Given the description of an element on the screen output the (x, y) to click on. 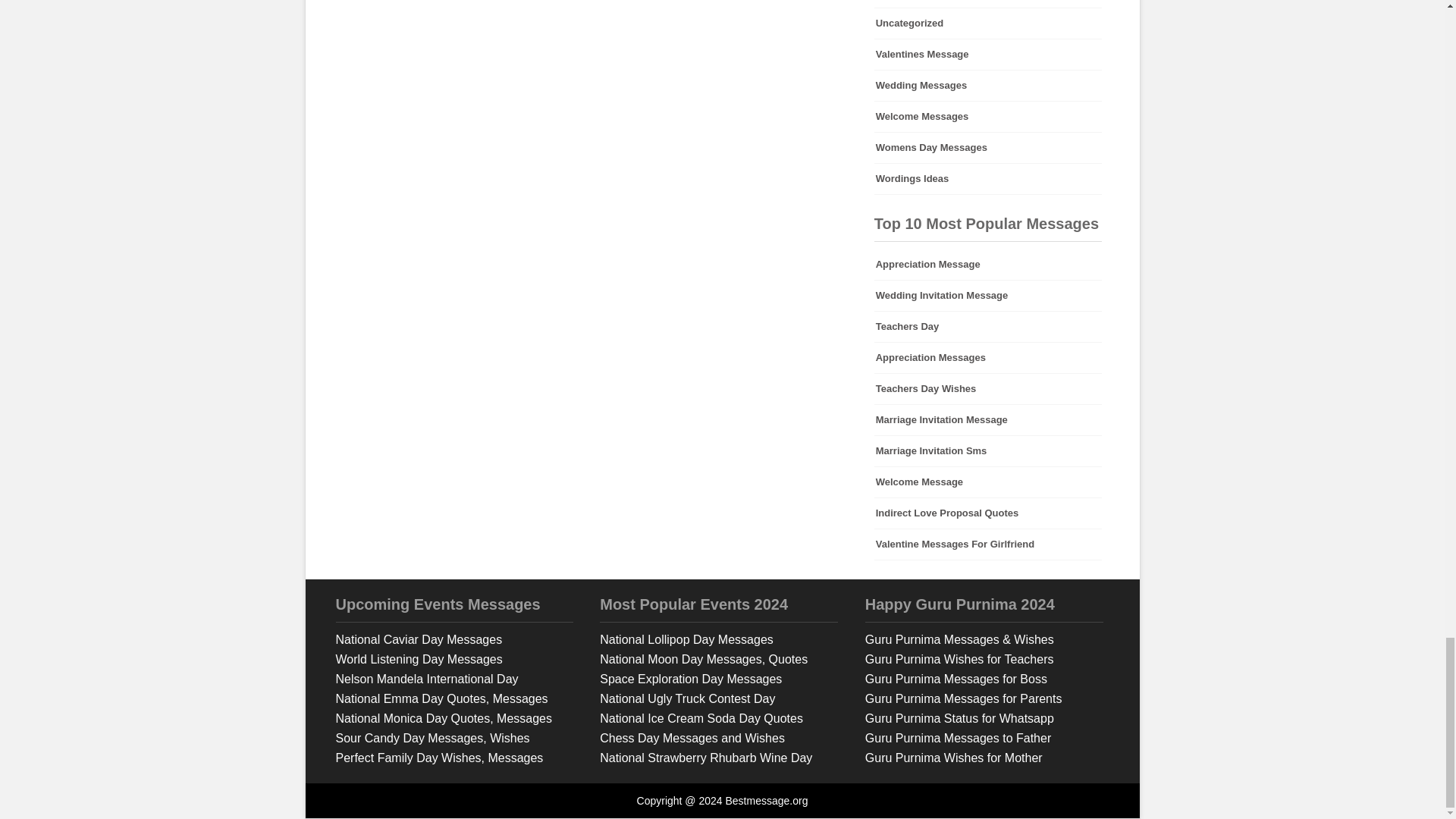
teachers day wishes (988, 388)
wedding invitation message (988, 295)
marriage invitation message (988, 419)
appreciation messages (988, 358)
appreciation message (988, 264)
teachers day (988, 327)
